Given the description of an element on the screen output the (x, y) to click on. 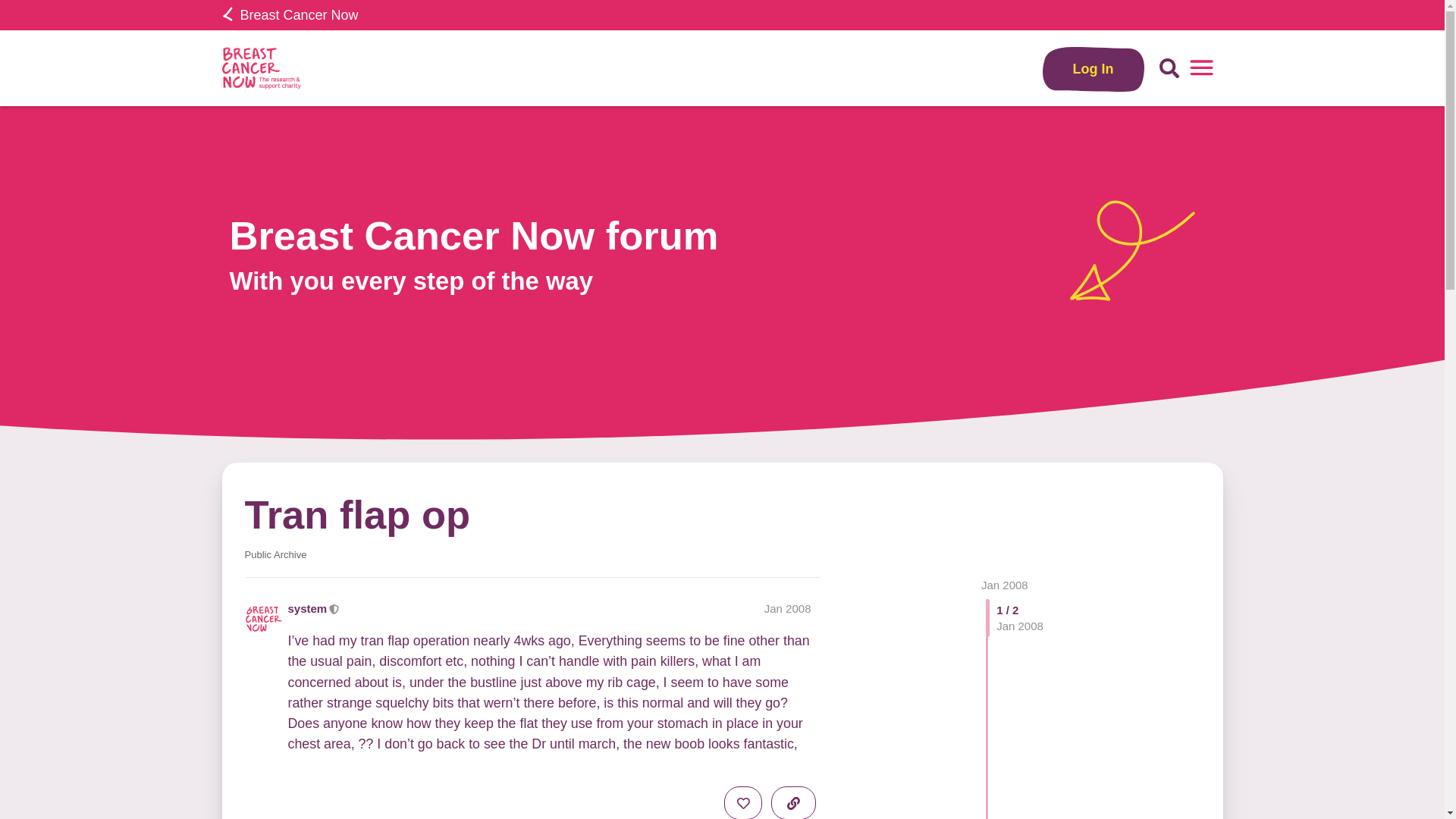
system (307, 608)
Jan 2008 (787, 608)
Archived posts which are available to view. (274, 554)
Jan 2008 (1004, 584)
menu (1201, 67)
Post date (787, 608)
like this post (742, 802)
Public Archive (274, 554)
Search (1169, 68)
Jan 2008 (1004, 584)
